Given the description of an element on the screen output the (x, y) to click on. 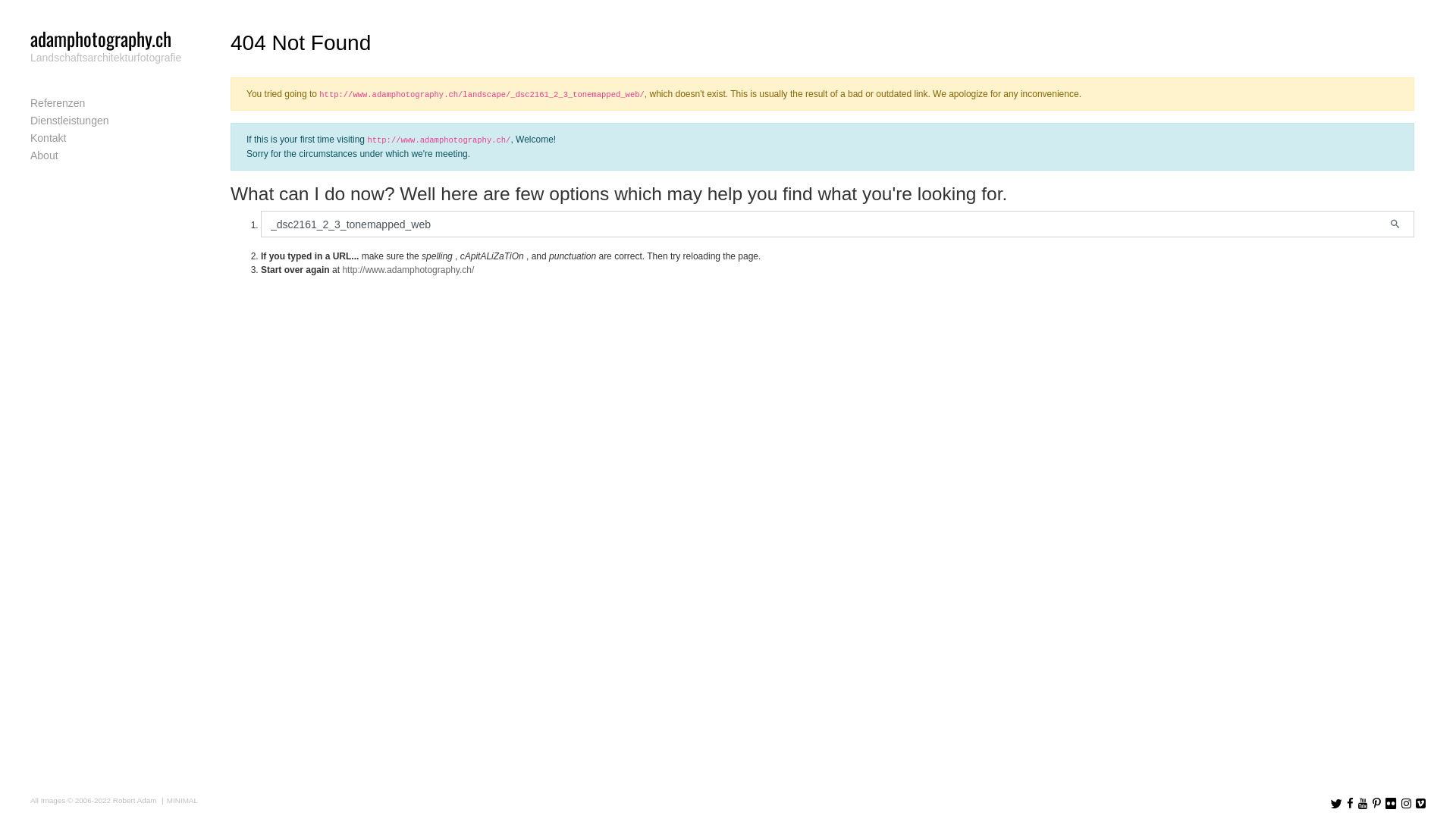
adamphotography.ch Element type: text (100, 38)
Follow us on Pinterest Element type: text (1376, 804)
Referenzen Element type: text (109, 103)
Follow us on Twitter Element type: text (1336, 804)
Follow us on Flickr Element type: text (1390, 804)
About Element type: text (109, 155)
Kontakt Element type: text (109, 138)
Like us on Facebook Element type: text (1349, 804)
MINIMAL Element type: text (177, 800)
Follow us on Vimeo Element type: text (1420, 804)
http://www.adamphotography.ch/ Element type: text (407, 269)
Dienstleistungen Element type: text (109, 120)
Subscribe to our Channel on YouTube Element type: text (1363, 804)
Follow us on Instagram Element type: text (1406, 804)
